Given the description of an element on the screen output the (x, y) to click on. 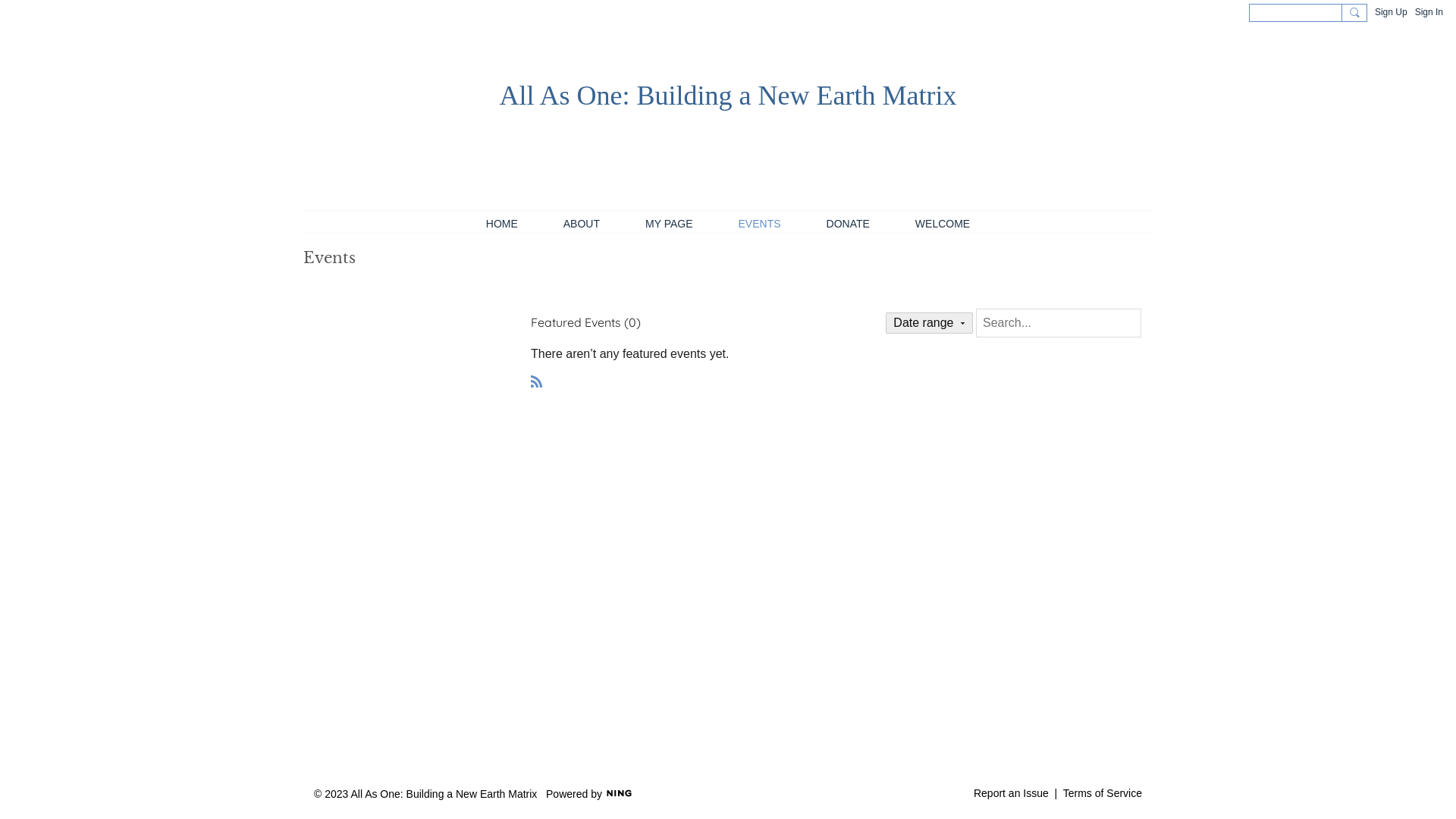
Terms of Service Element type: text (1102, 793)
Sign In Element type: text (1429, 11)
32 Global Light Centers Element type: text (589, 282)
ABOUT Element type: text (581, 221)
All Events Element type: text (315, 282)
Report an Issue Element type: text (1010, 793)
Sacred Circle Element type: text (751, 282)
All As One: Building a New Earth Matrix Element type: text (728, 95)
32GLC Events Element type: text (655, 282)
DONATE Element type: text (848, 221)
Past Events Element type: text (423, 282)
MY PAGE Element type: text (668, 221)
HOME Element type: text (501, 221)
Workshop Element type: text (702, 282)
Featured Events Element type: text (521, 282)
Upcoming Events Element type: text (368, 282)
WELCOME Element type: text (942, 221)
My Events Element type: text (469, 282)
RSS Element type: text (536, 379)
Sign Up Element type: text (1390, 11)
EVENTS Element type: text (759, 221)
